Given the description of an element on the screen output the (x, y) to click on. 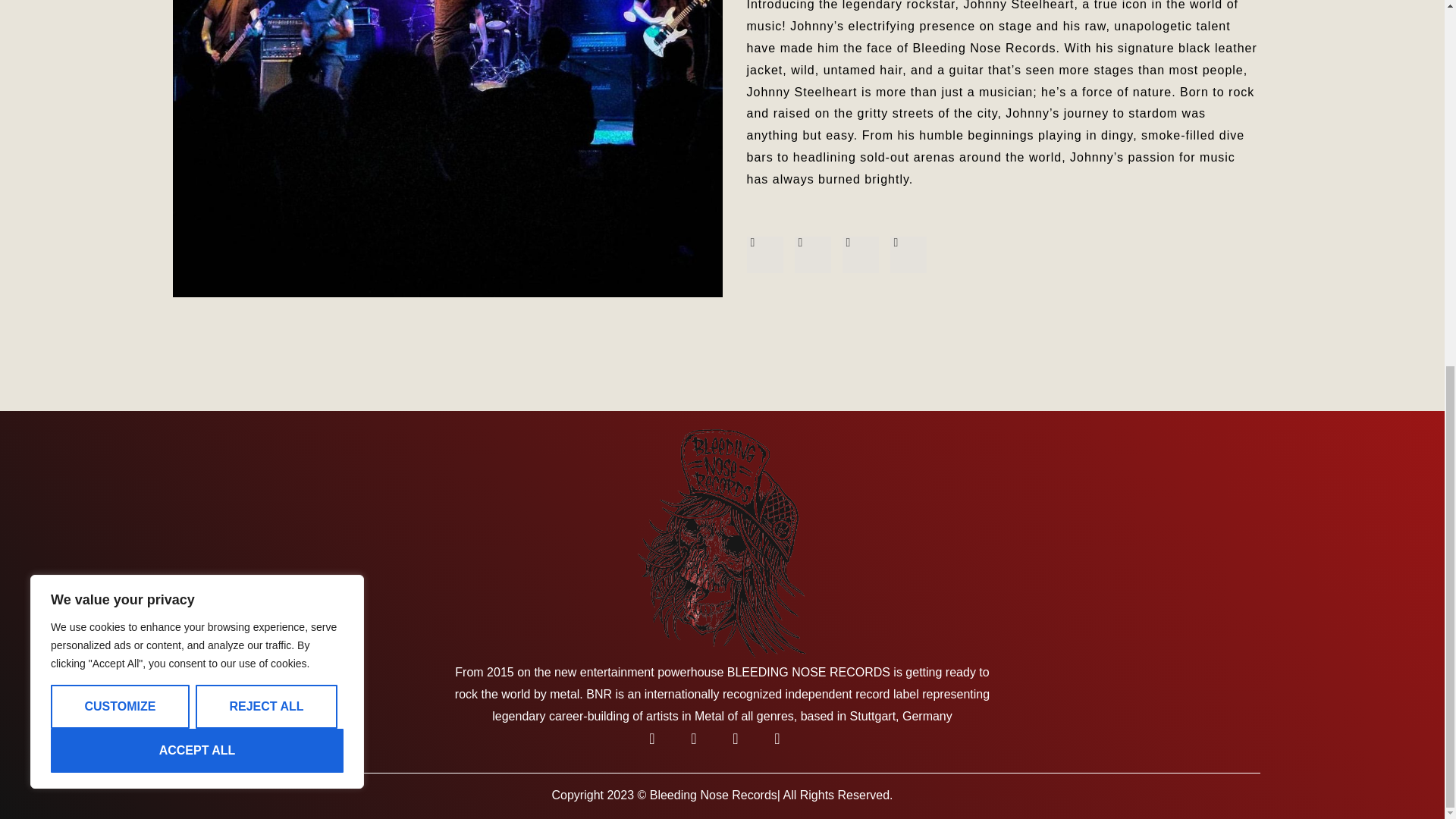
Instagram (907, 254)
REJECT ALL (266, 48)
Facebook (764, 254)
Twitter (784, 746)
Facebook (660, 746)
Instagram (700, 746)
Google-plus (859, 254)
Youtube (743, 746)
Twitter (812, 254)
CUSTOMIZE (119, 48)
